Given the description of an element on the screen output the (x, y) to click on. 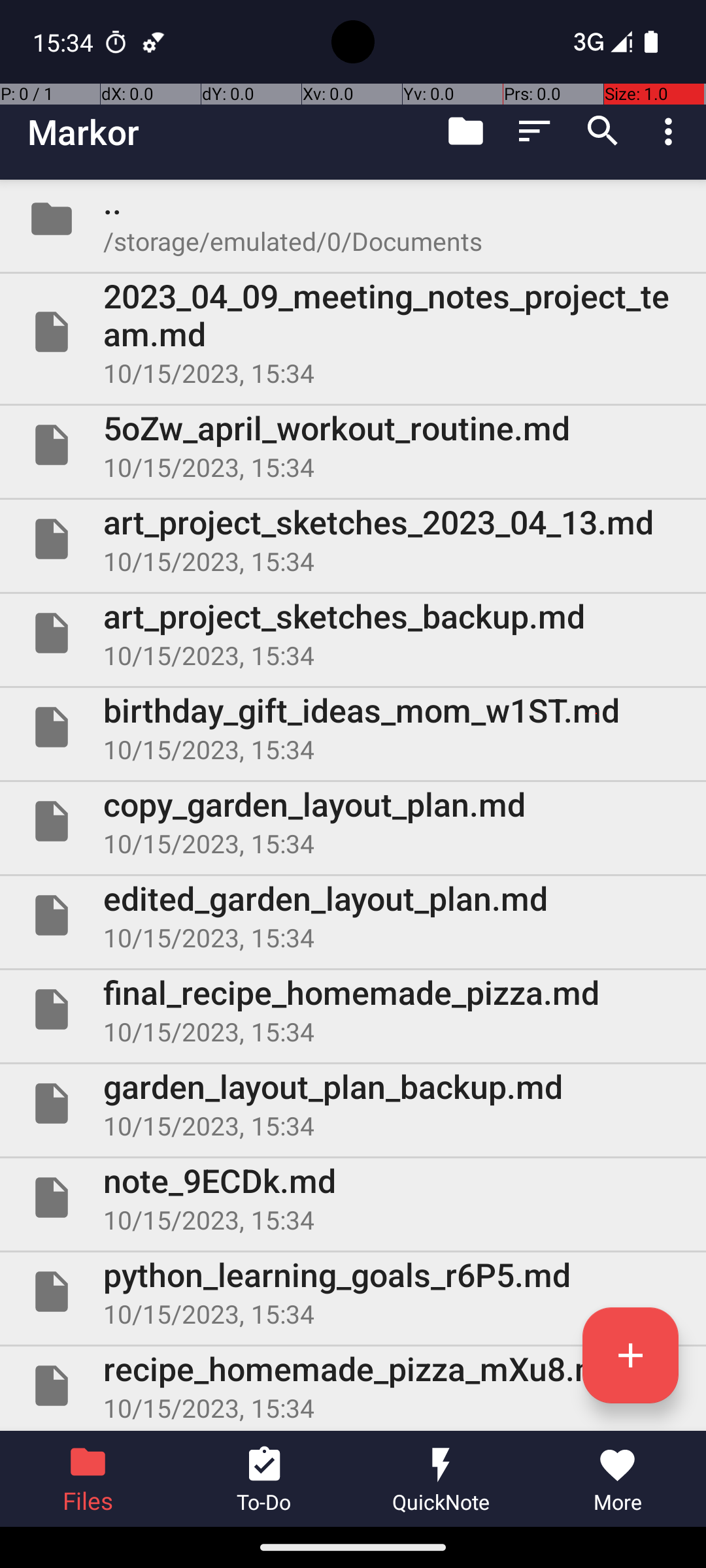
File 2023_04_09_meeting_notes_project_team.md  Element type: android.widget.LinearLayout (353, 331)
File 5oZw_april_workout_routine.md  Element type: android.widget.LinearLayout (353, 444)
File art_project_sketches_2023_04_13.md  Element type: android.widget.LinearLayout (353, 538)
File art_project_sketches_backup.md  Element type: android.widget.LinearLayout (353, 632)
File birthday_gift_ideas_mom_w1ST.md  Element type: android.widget.LinearLayout (353, 726)
File copy_garden_layout_plan.md  Element type: android.widget.LinearLayout (353, 821)
File edited_garden_layout_plan.md  Element type: android.widget.LinearLayout (353, 915)
File final_recipe_homemade_pizza.md  Element type: android.widget.LinearLayout (353, 1009)
File garden_layout_plan_backup.md  Element type: android.widget.LinearLayout (353, 1103)
File note_9ECDk.md  Element type: android.widget.LinearLayout (353, 1197)
File python_learning_goals_r6P5.md  Element type: android.widget.LinearLayout (353, 1291)
File recipe_homemade_pizza_mXu8.md  Element type: android.widget.LinearLayout (353, 1385)
